Given the description of an element on the screen output the (x, y) to click on. 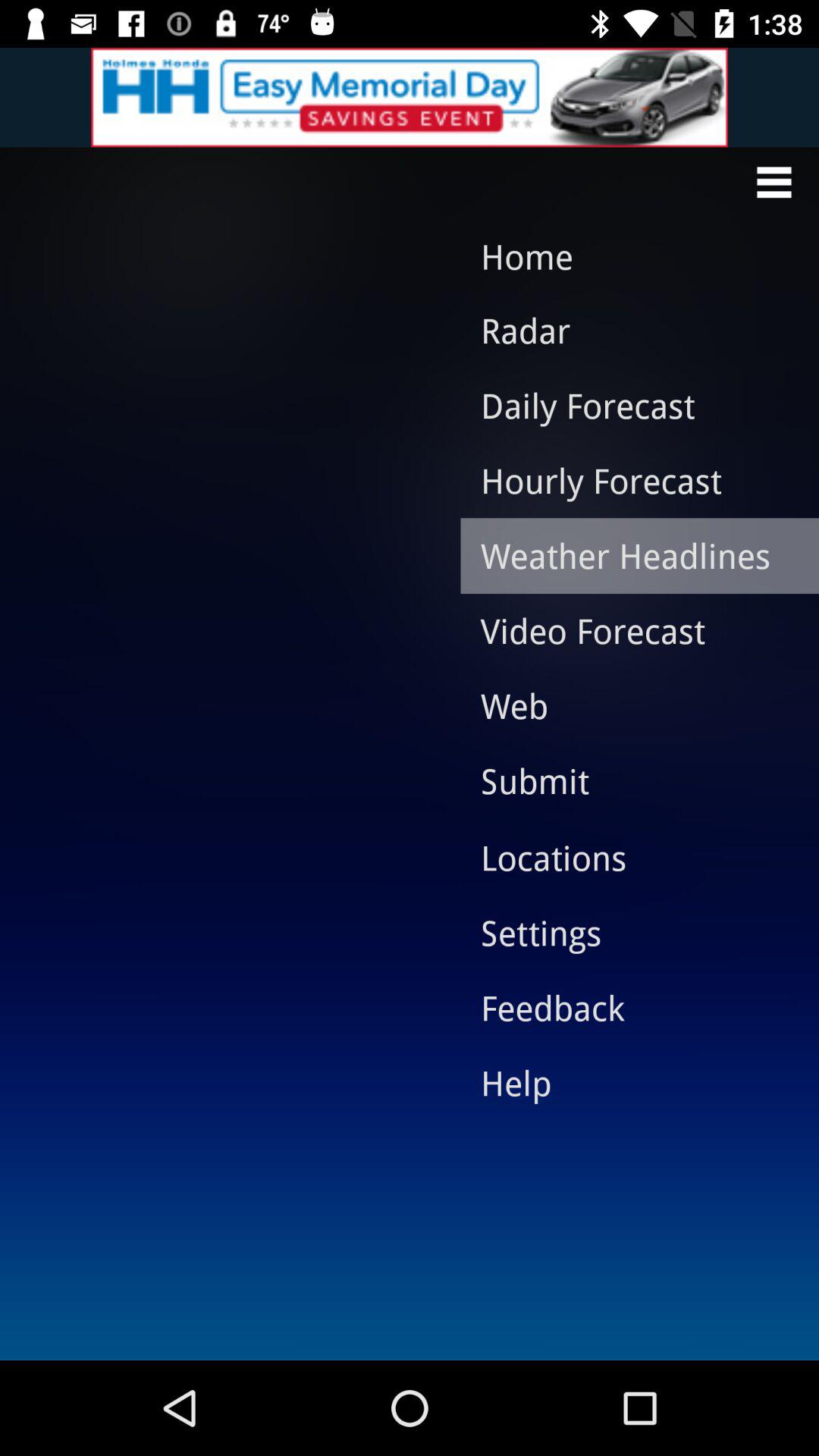
click hourly forecast (627, 480)
